Given the description of an element on the screen output the (x, y) to click on. 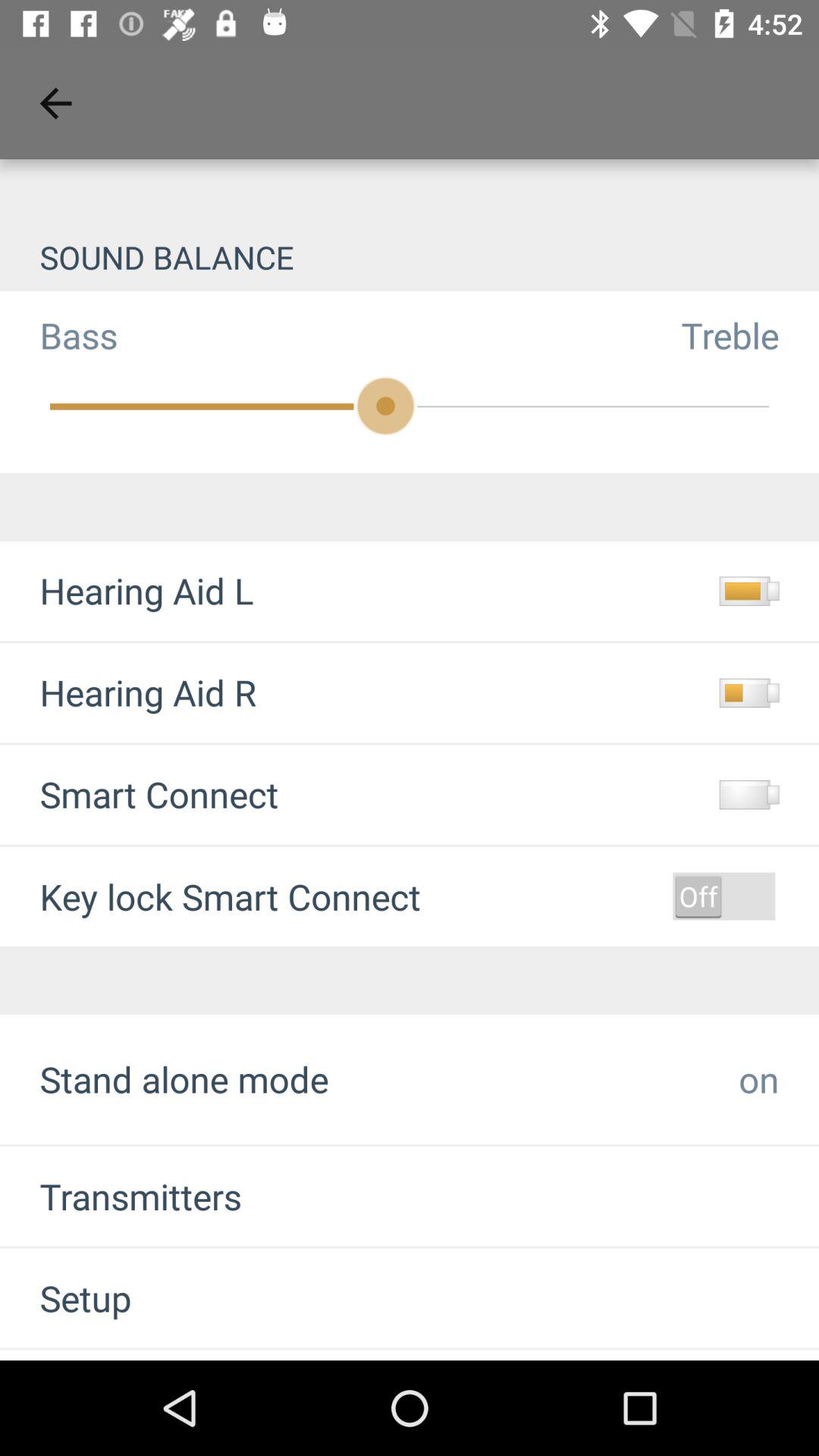
tap transmitters item (120, 1196)
